Given the description of an element on the screen output the (x, y) to click on. 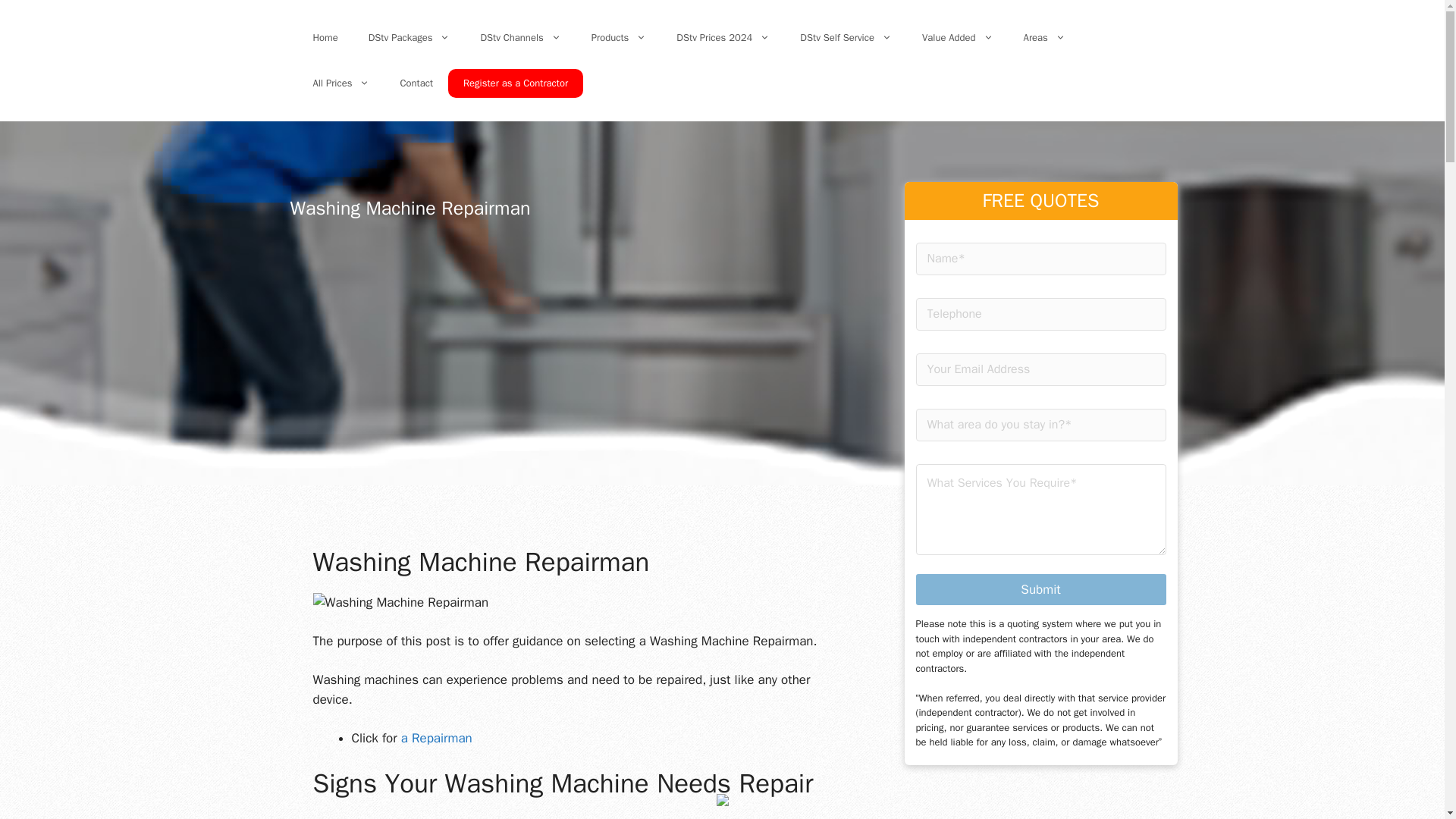
DStv Packages (409, 37)
Home (324, 37)
DStv Channels (519, 37)
Products (619, 37)
